Given the description of an element on the screen output the (x, y) to click on. 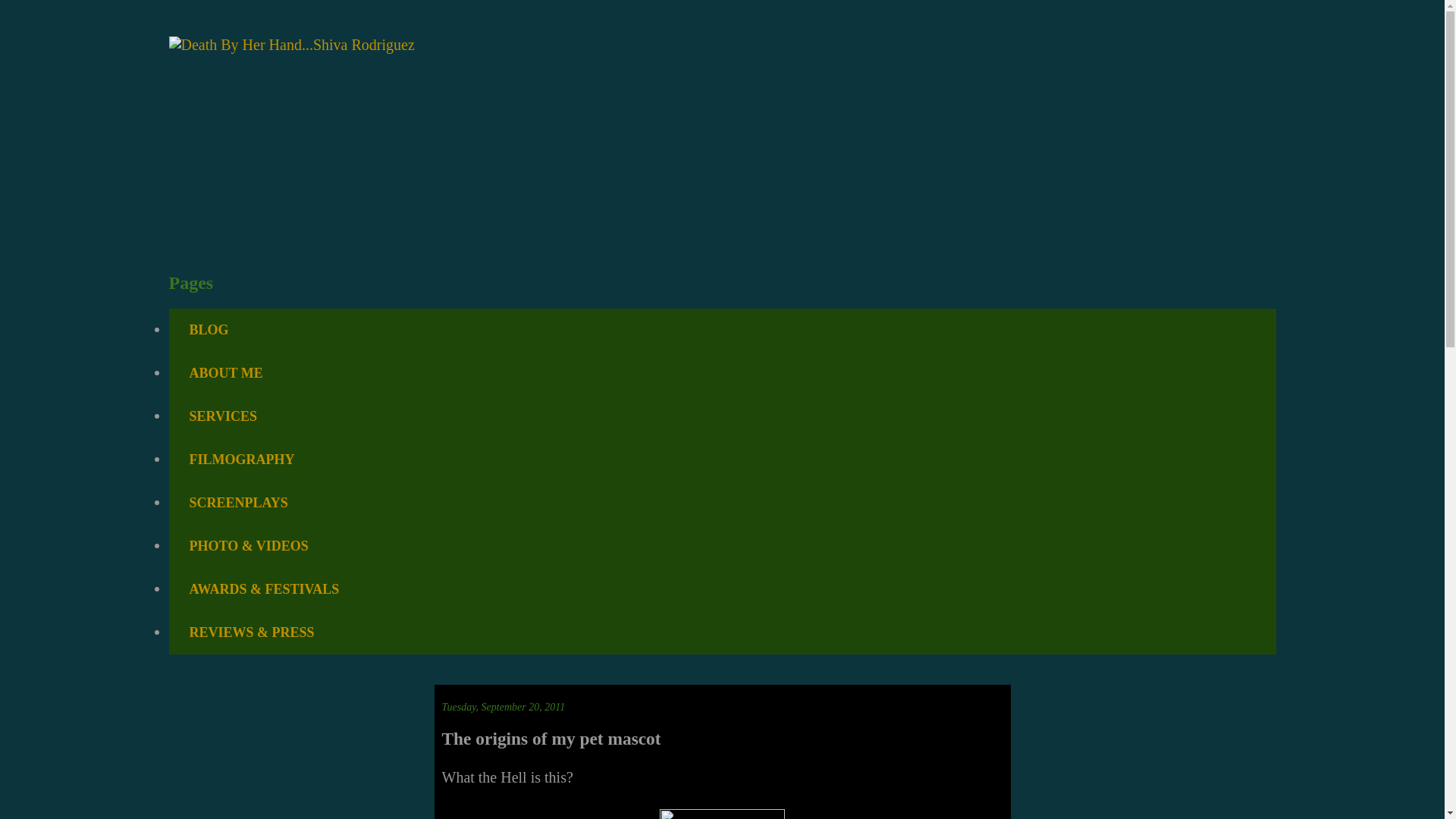
BLOG (208, 330)
SCREENPLAYS (237, 502)
ABOUT ME (225, 373)
SERVICES (222, 416)
FILMOGRAPHY (241, 459)
